Given the description of an element on the screen output the (x, y) to click on. 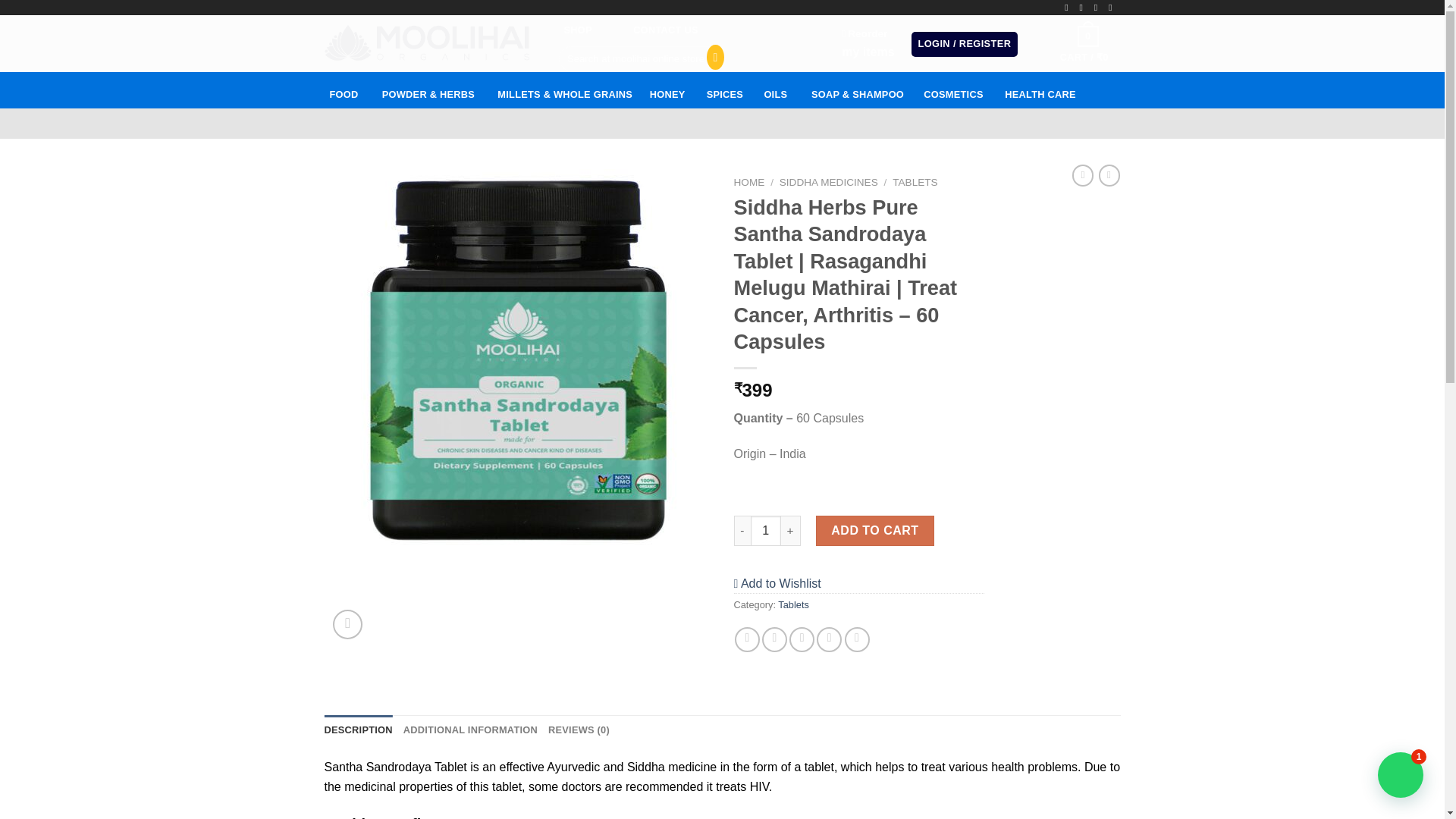
SPICES (724, 90)
Qty (765, 530)
COSMETICS (953, 90)
1 (765, 530)
HEALTH CARE (1040, 90)
Cart (1084, 43)
ADD TO CART (874, 530)
FOOD (344, 90)
HONEY (667, 90)
Zoom (347, 624)
SIDDHA MEDICINES (827, 182)
TABLETS (914, 182)
SHOP (577, 30)
Add to Wishlist (777, 583)
